Given the description of an element on the screen output the (x, y) to click on. 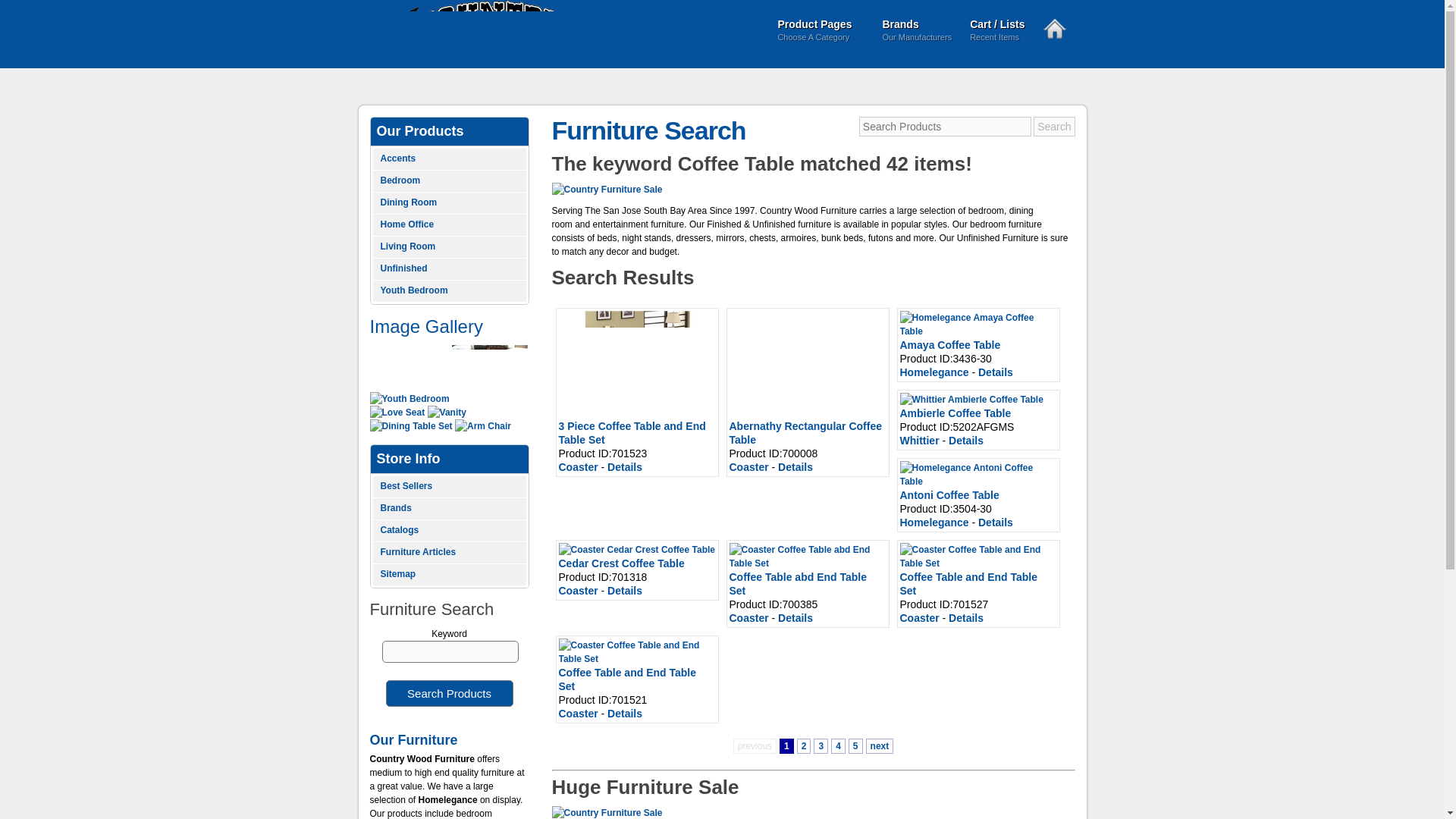
Search (1053, 126)
Coaster 3 Piece Coffee Table and End Table Set (635, 363)
Love Seat (397, 412)
Country Furniture Sale (606, 812)
Homelegance Amaya Coffee Table (978, 324)
Coaster (748, 467)
Coaster Coffee Table abd End Table Set (807, 556)
Vanity (446, 412)
Details (916, 31)
Coaster Coffee Table and End Table Set (624, 467)
3 Piece Coffee Table and End Table Set (820, 31)
Coaster Abernathy Rectangular Coffee Table (978, 556)
Abernathy Rectangular Coffee Table (630, 432)
